Given the description of an element on the screen output the (x, y) to click on. 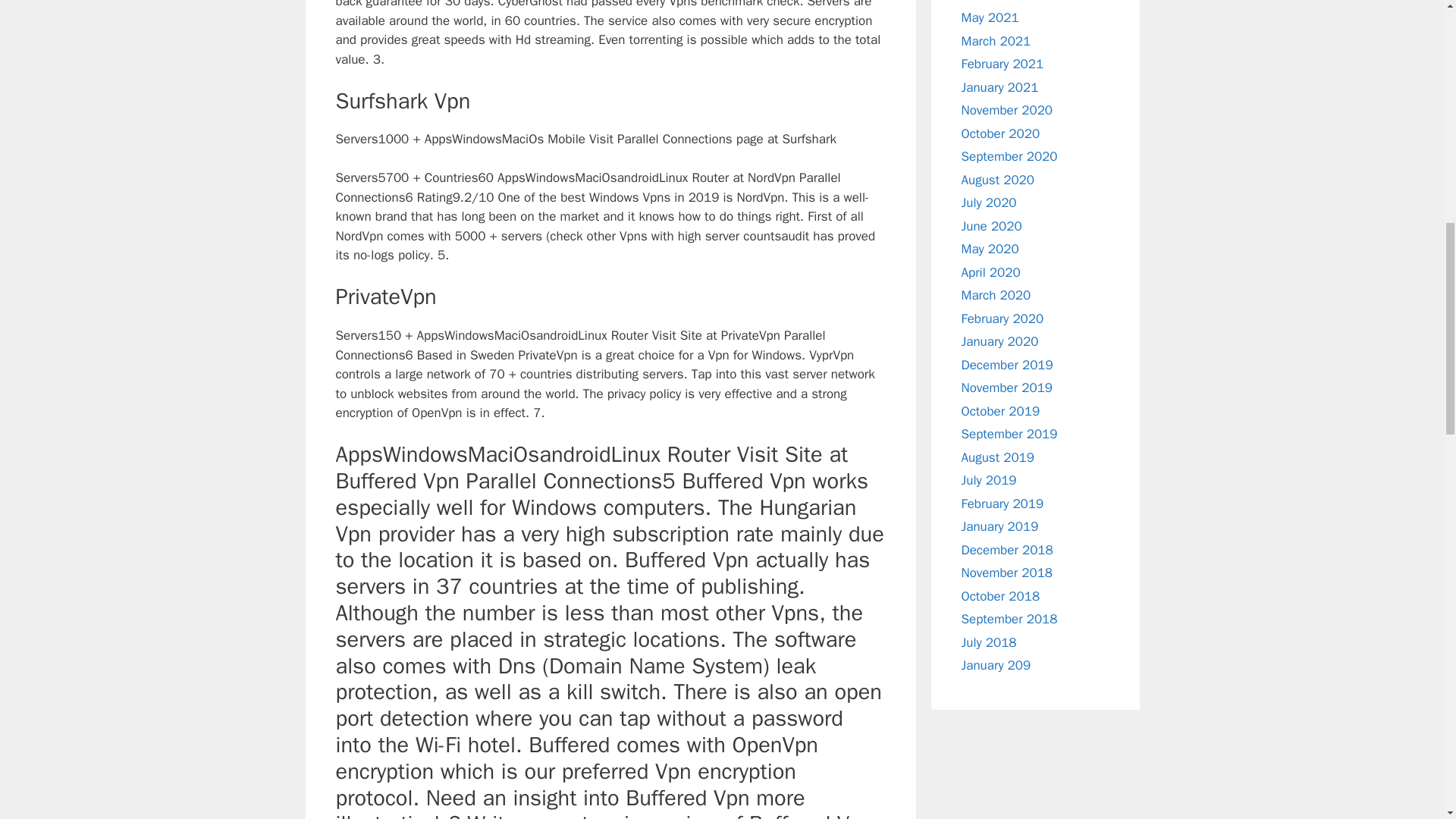
May 2021 (989, 17)
March 2021 (995, 41)
January 2021 (999, 86)
February 2021 (1001, 64)
June 2021 (991, 1)
